Given the description of an element on the screen output the (x, y) to click on. 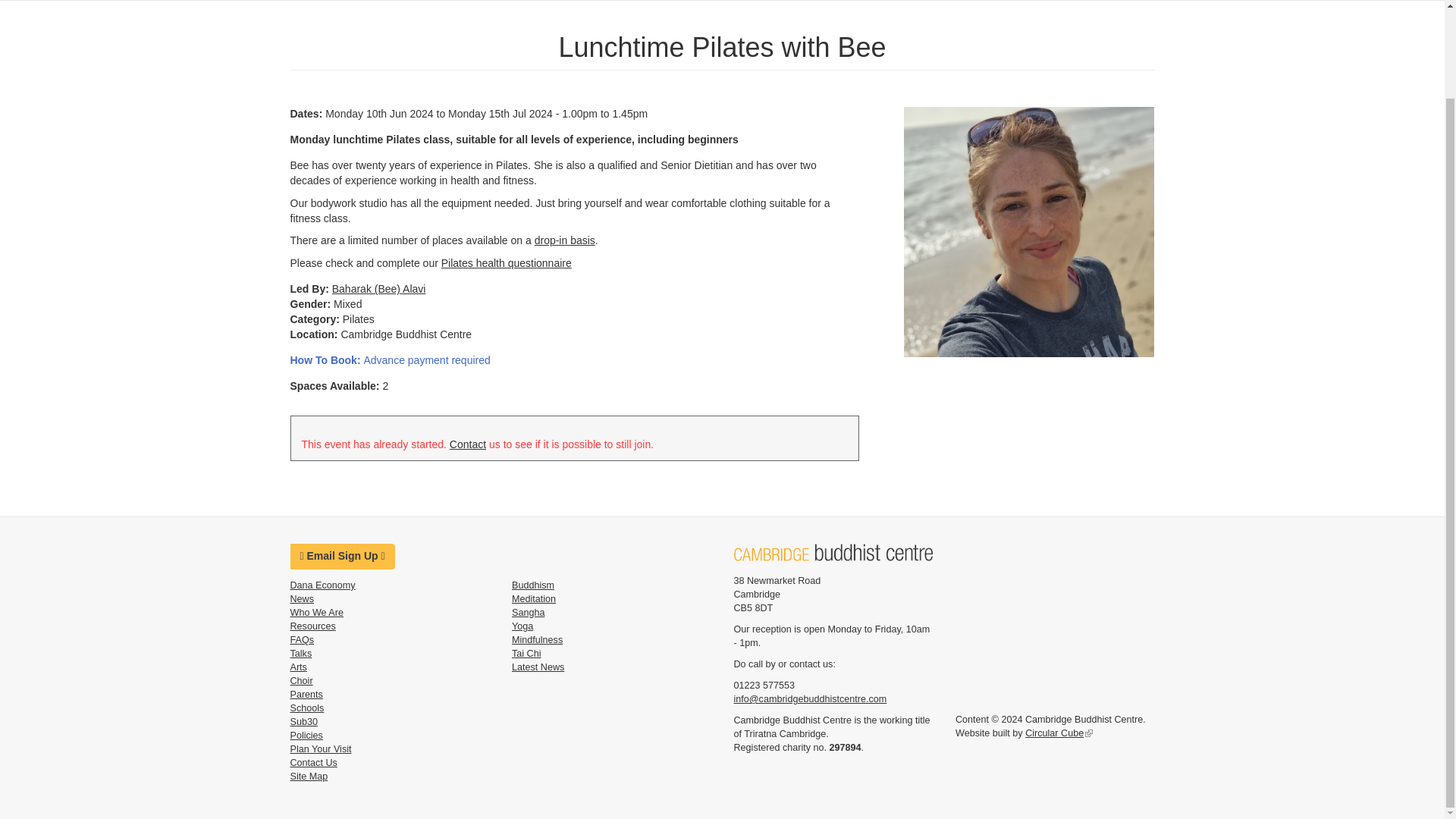
Home (833, 552)
Pilates health questionnaire (506, 263)
drop-in basis (564, 240)
